Given the description of an element on the screen output the (x, y) to click on. 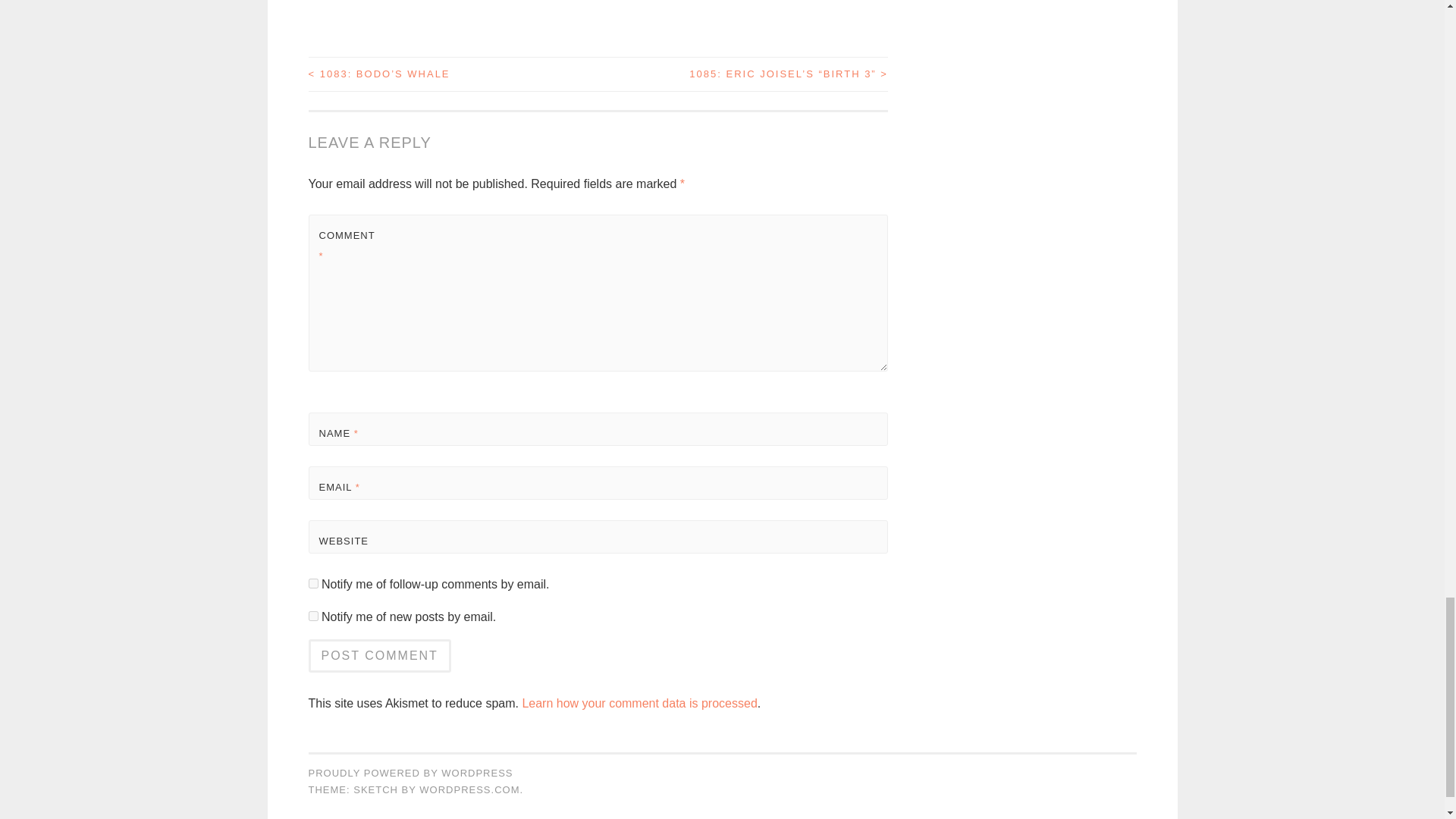
subscribe (312, 615)
Learn how your comment data is processed (639, 703)
Post Comment (378, 655)
Post Comment (378, 655)
subscribe (312, 583)
